Given the description of an element on the screen output the (x, y) to click on. 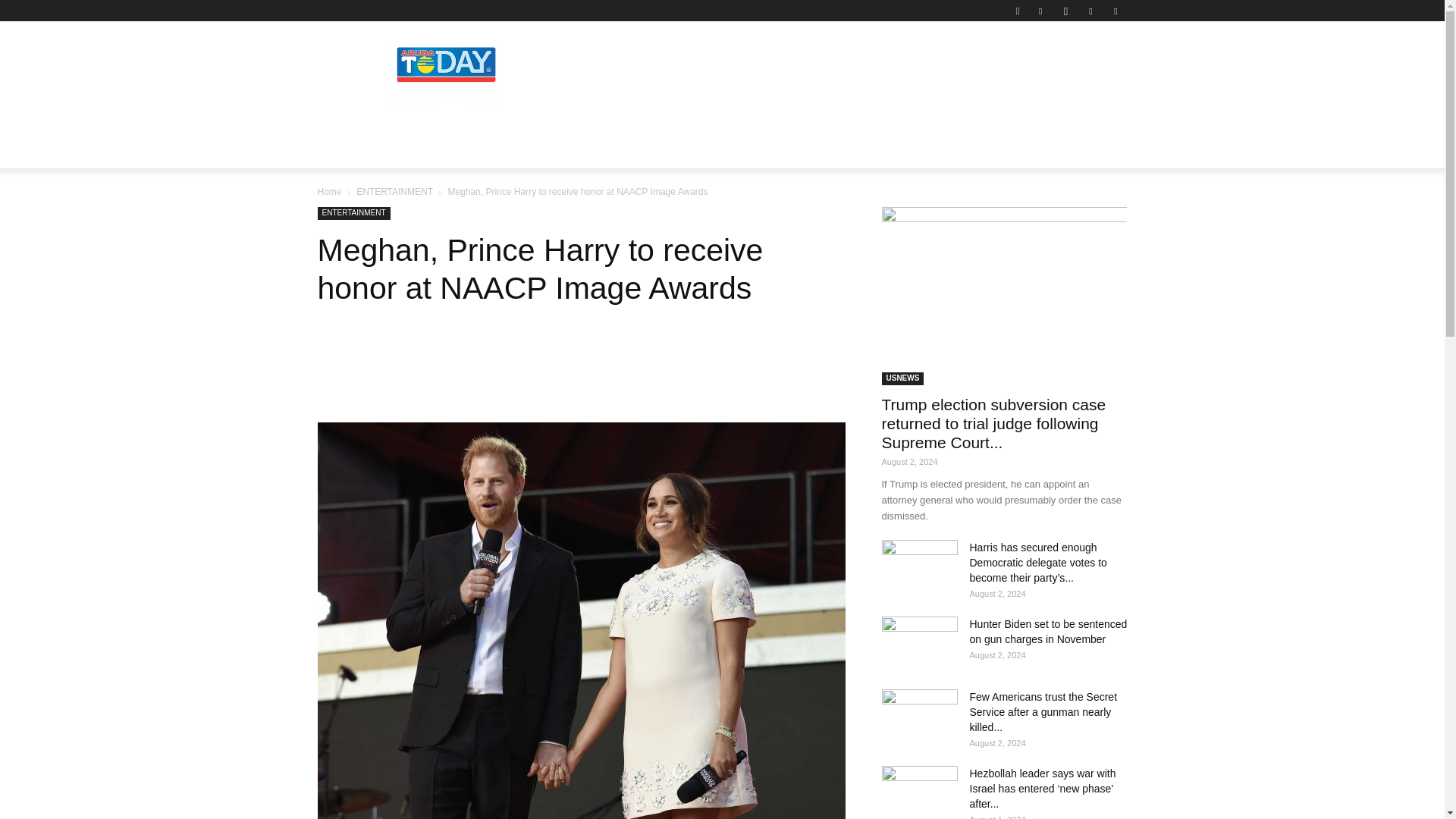
VISITORS GALLERY (622, 149)
Instagram (1065, 10)
Mail (1090, 10)
HOME (293, 149)
HONORINGS (517, 149)
VIDEO (779, 149)
USNEWS (717, 149)
Search (1085, 64)
ARUBA TO ME (426, 149)
Youtube (1114, 10)
View all posts in ENTERTAINMENT (394, 191)
LOCAL (348, 149)
Facebook (1040, 10)
